Given the description of an element on the screen output the (x, y) to click on. 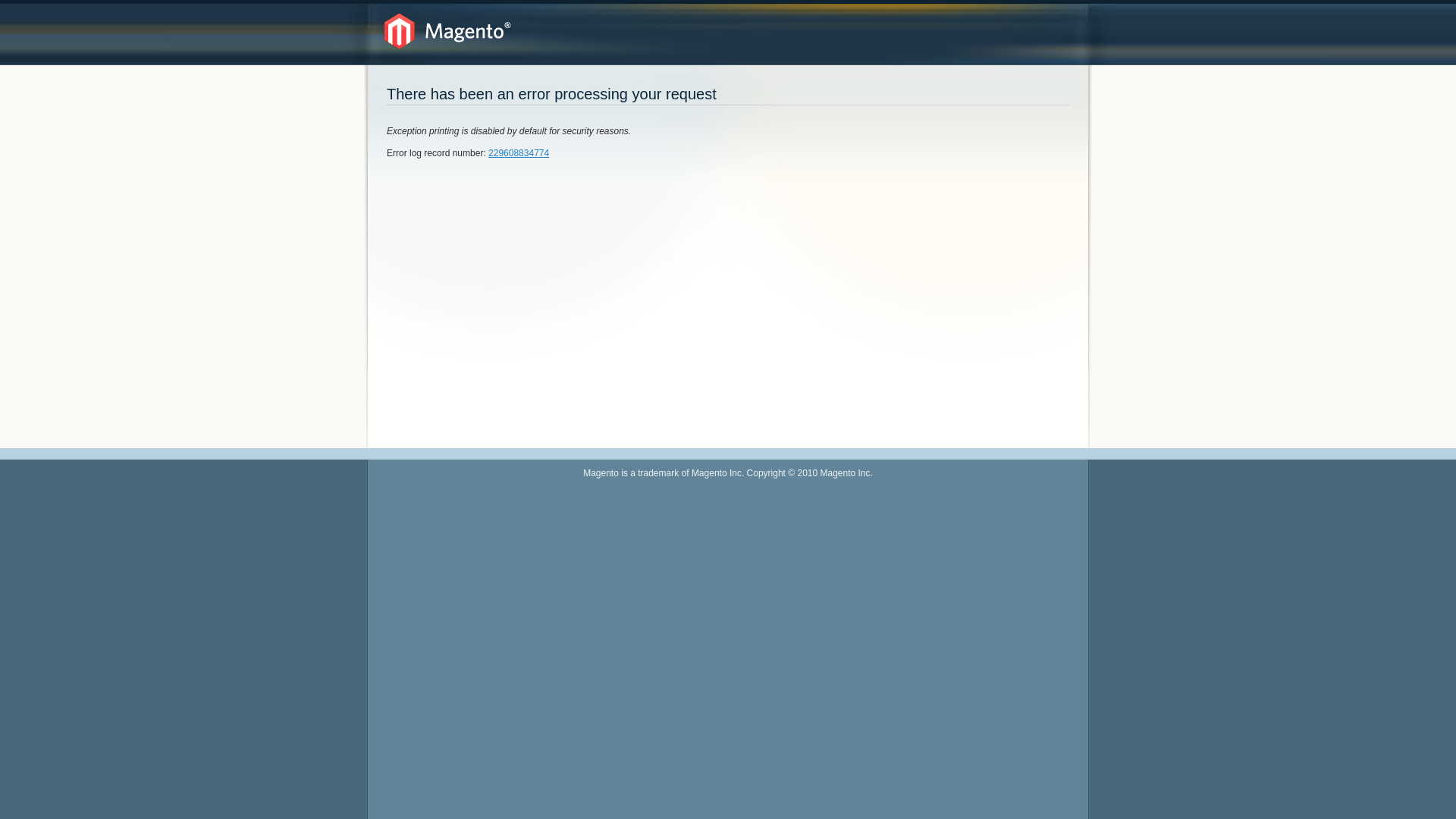
Magento Commerce Element type: hover (447, 31)
229608834774 Element type: text (518, 152)
